Given the description of an element on the screen output the (x, y) to click on. 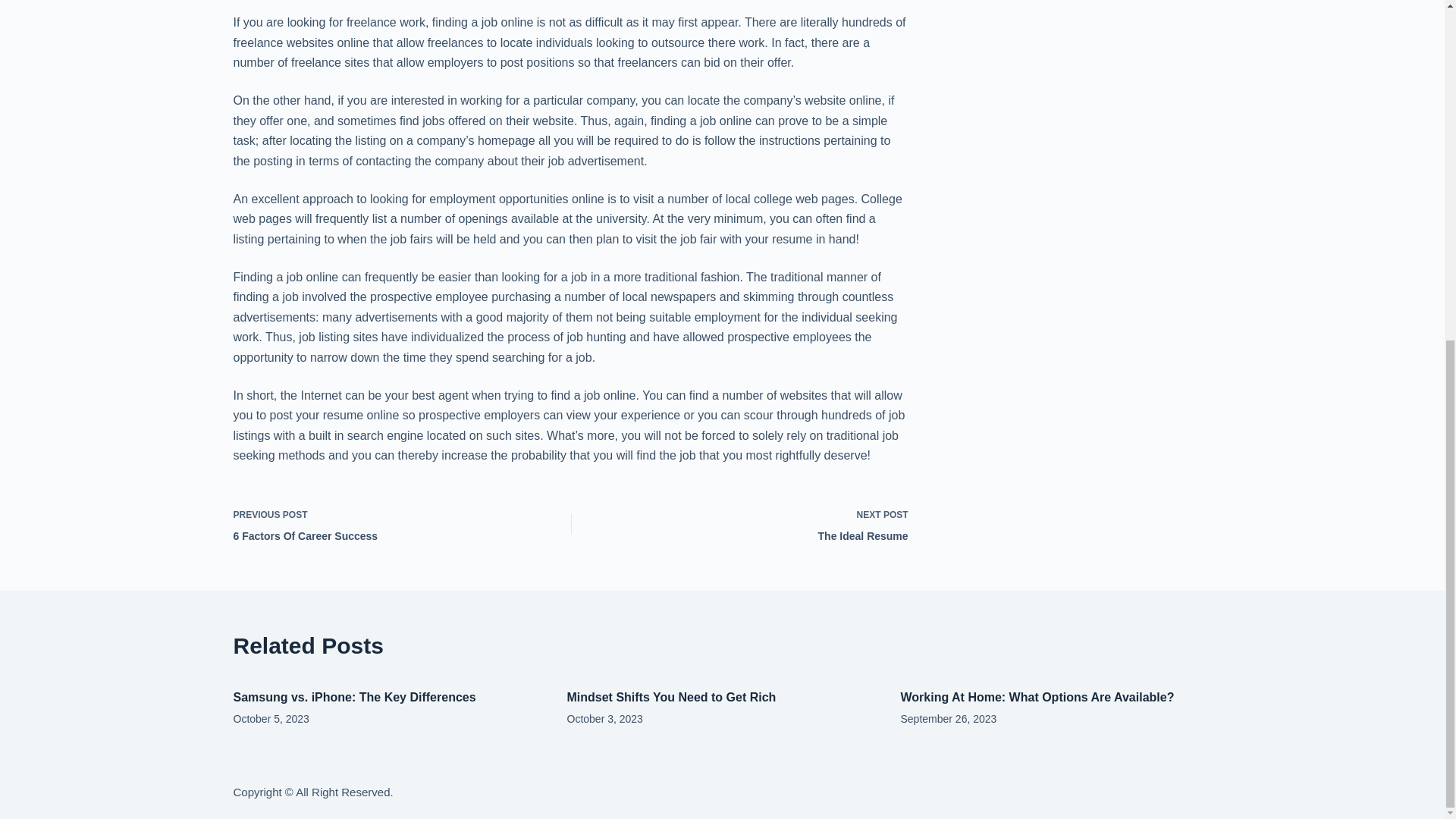
Samsung vs. iPhone: The Key Differences (751, 524)
